Given the description of an element on the screen output the (x, y) to click on. 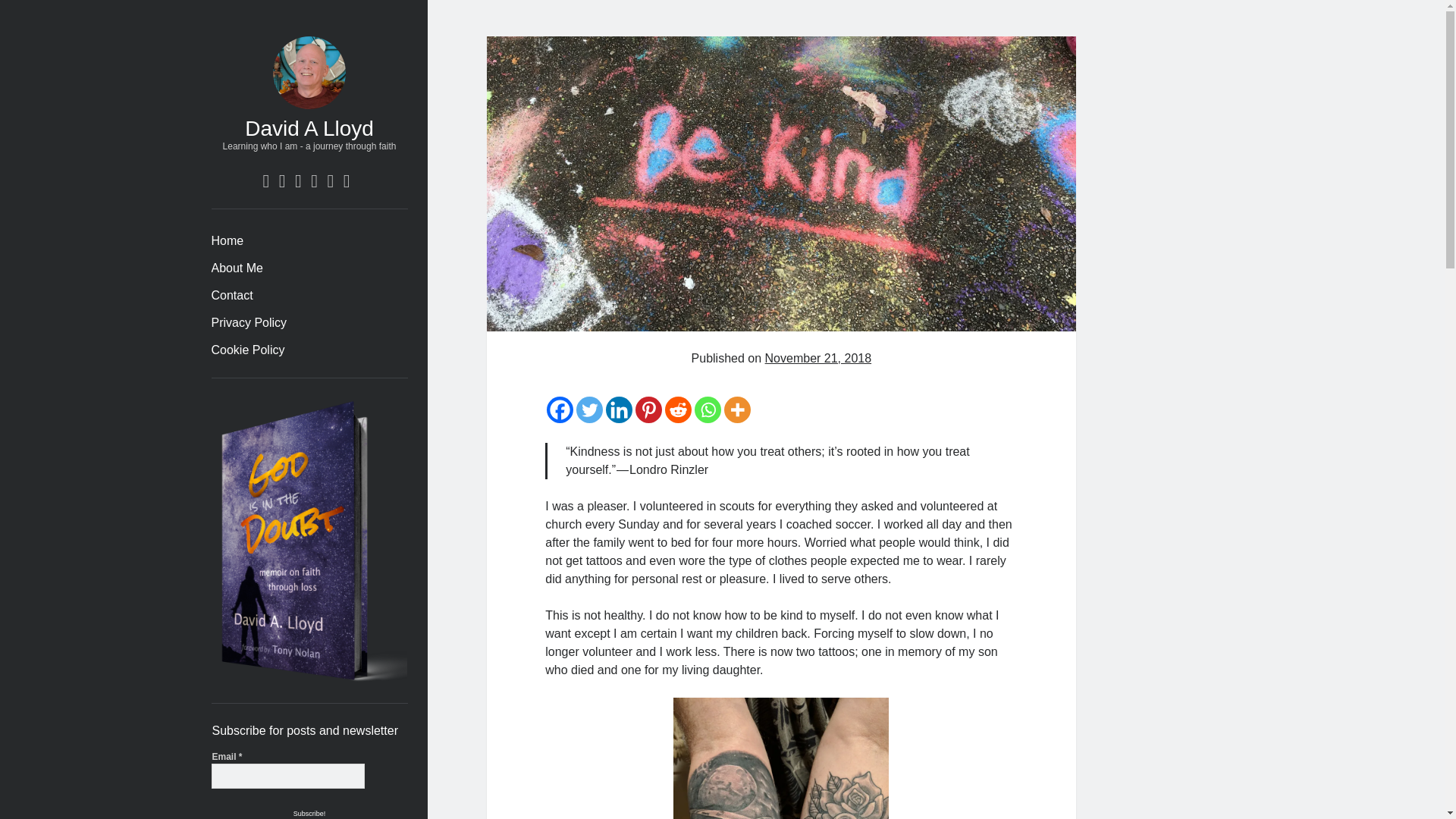
Subscribe! (309, 811)
David A Lloyd (309, 128)
Email (288, 776)
Cookie Policy (247, 350)
Subscribe! (309, 811)
More (737, 409)
Twitter (589, 409)
Pinterest (648, 409)
Facebook (560, 409)
Whatsapp (707, 409)
